Given the description of an element on the screen output the (x, y) to click on. 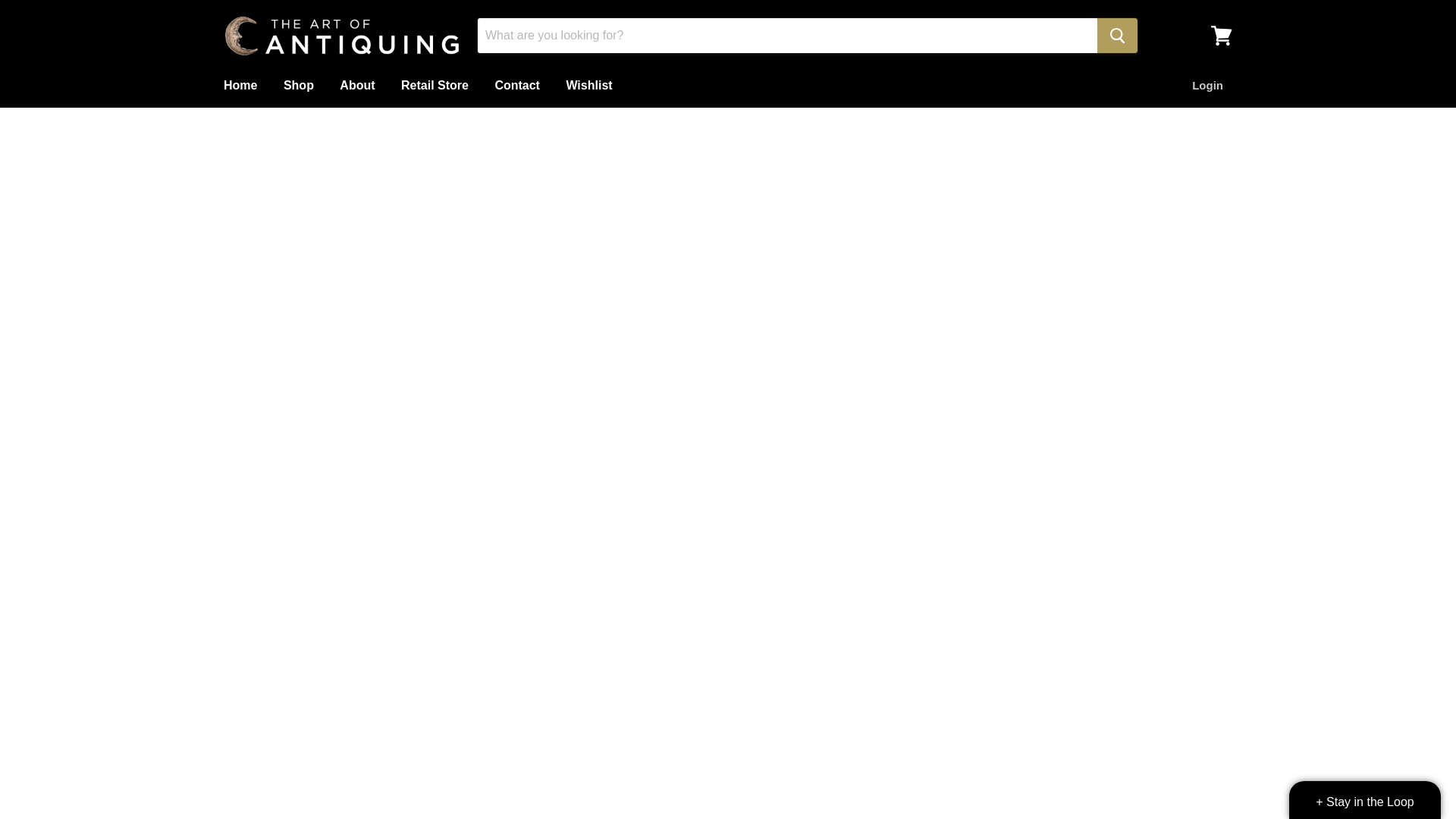
Contact (517, 85)
Home (239, 85)
Retail Store (435, 85)
View cart (1222, 35)
Login (1206, 85)
Shop (298, 85)
About (357, 85)
Wishlist (630, 85)
